Given the description of an element on the screen output the (x, y) to click on. 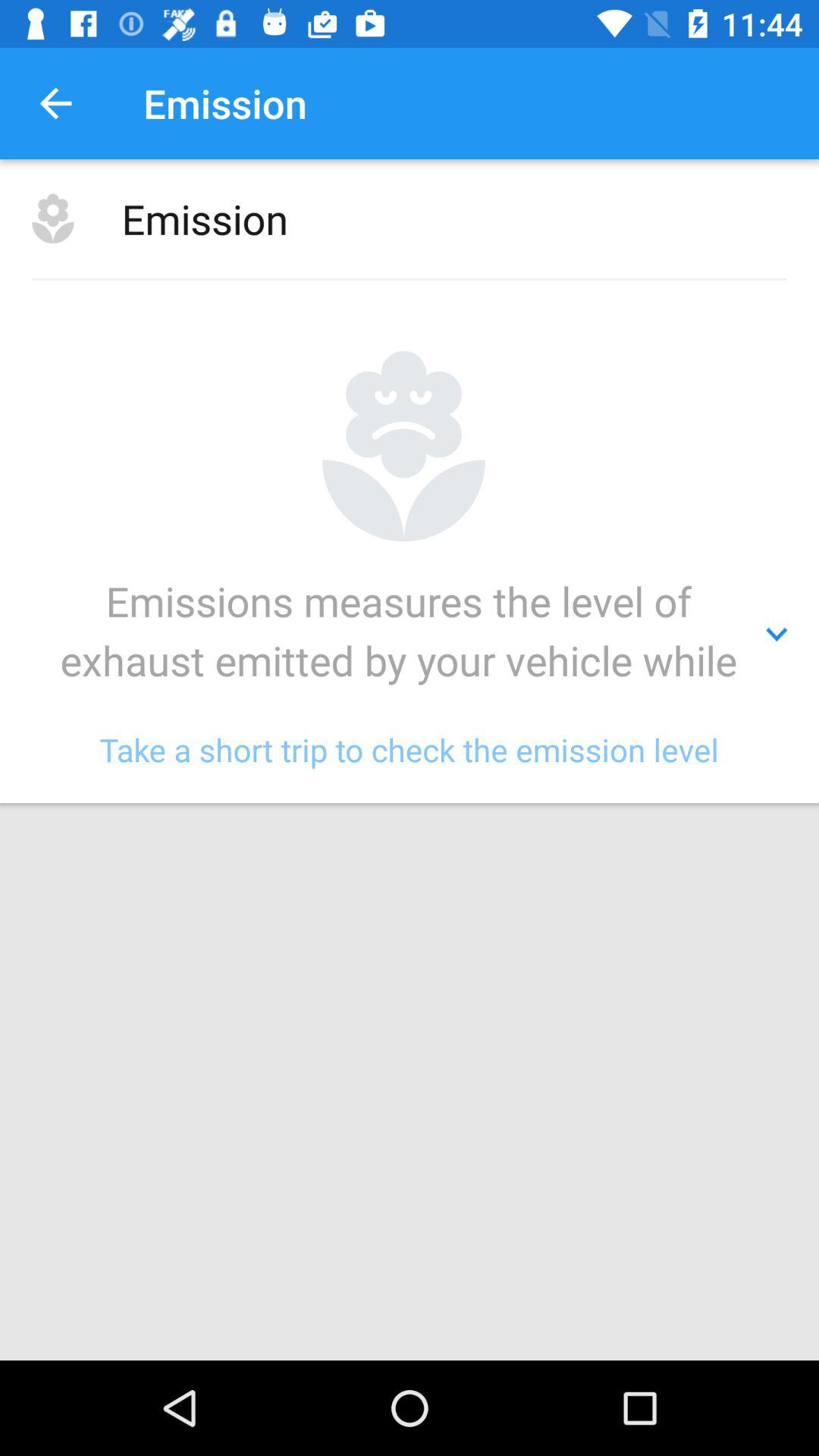
tap the icon above take a short (409, 634)
